Given the description of an element on the screen output the (x, y) to click on. 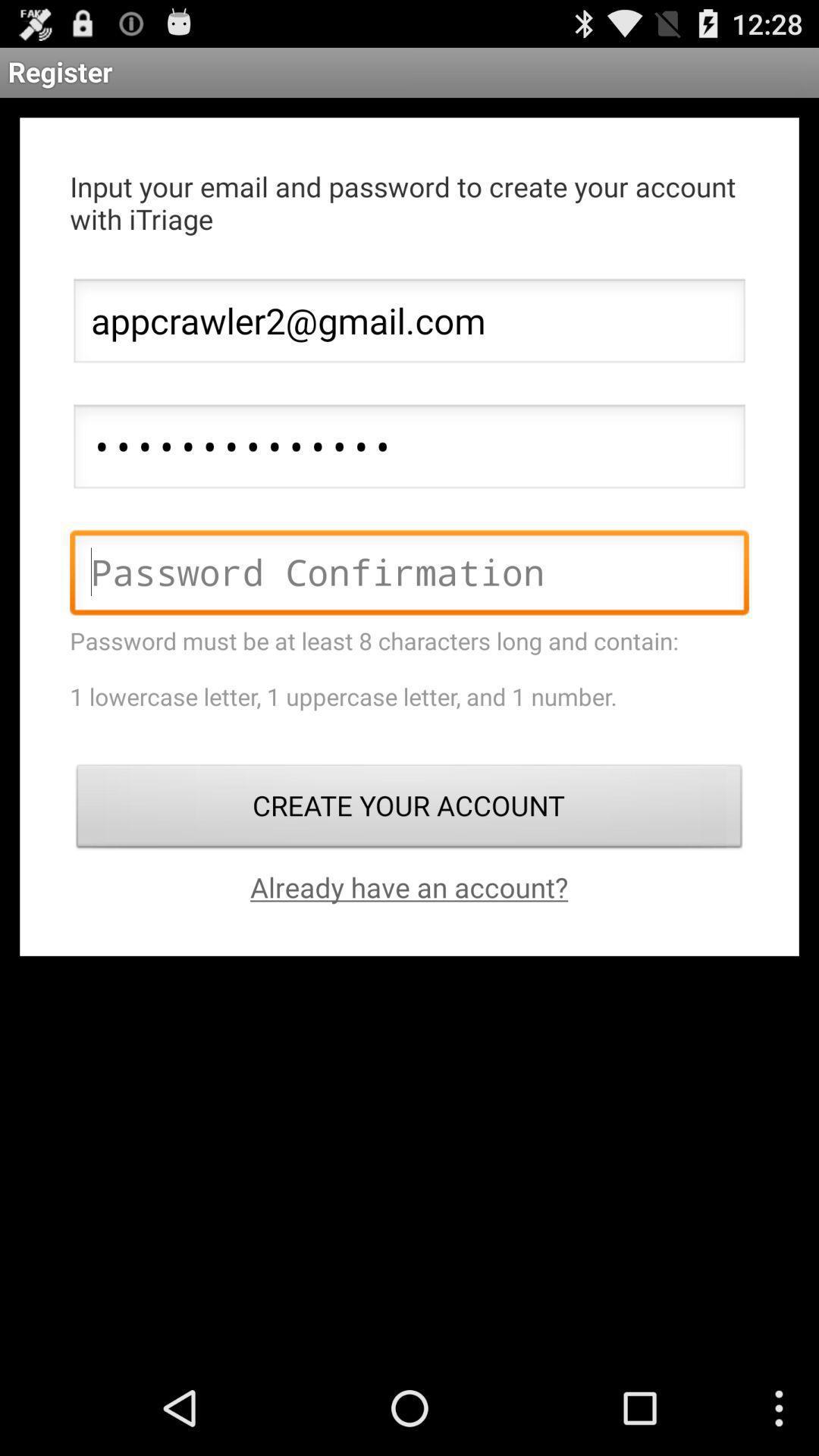
confirm passwordq (409, 576)
